Given the description of an element on the screen output the (x, y) to click on. 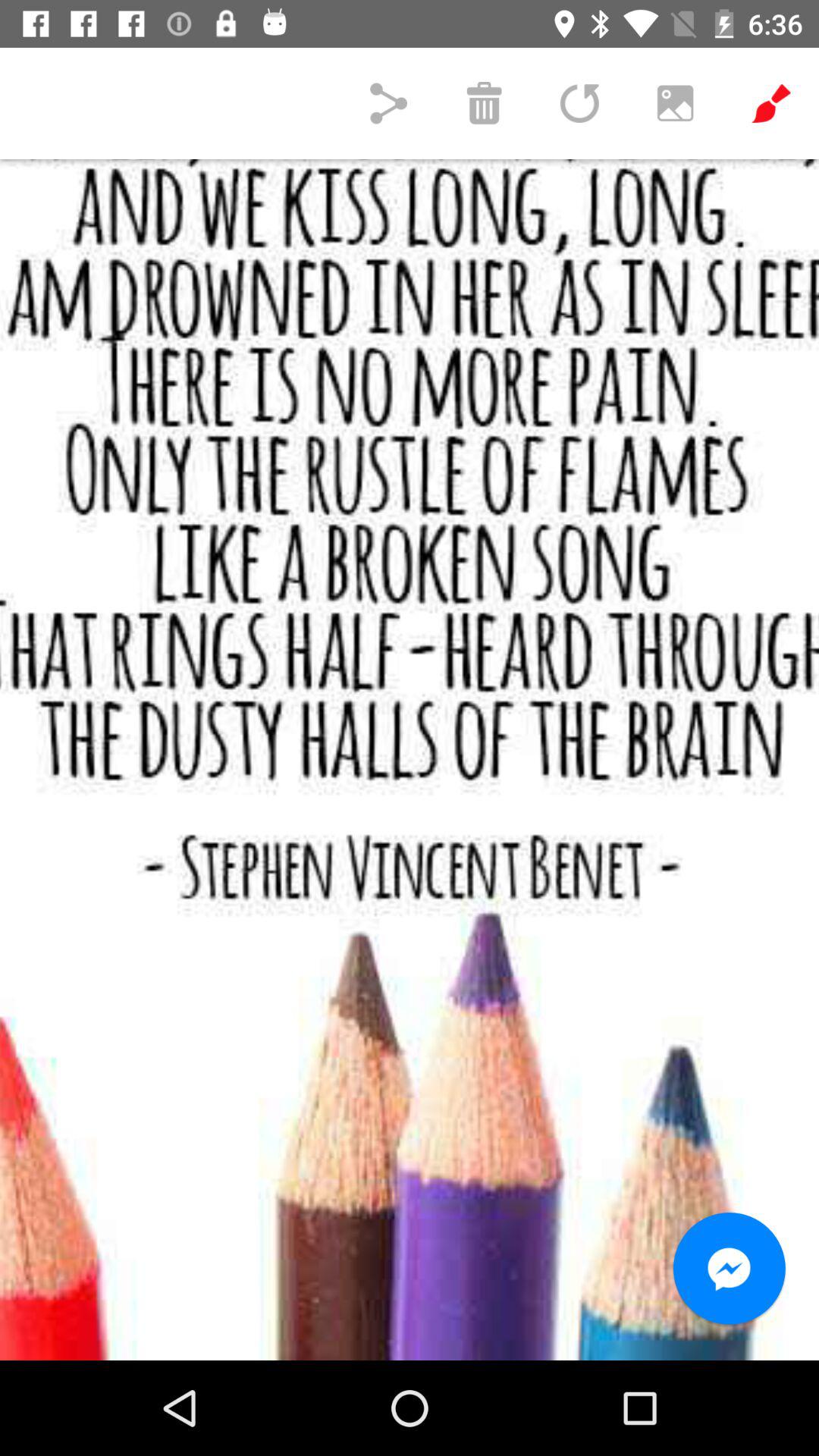
launch the icon at the bottom right corner (729, 1269)
